Given the description of an element on the screen output the (x, y) to click on. 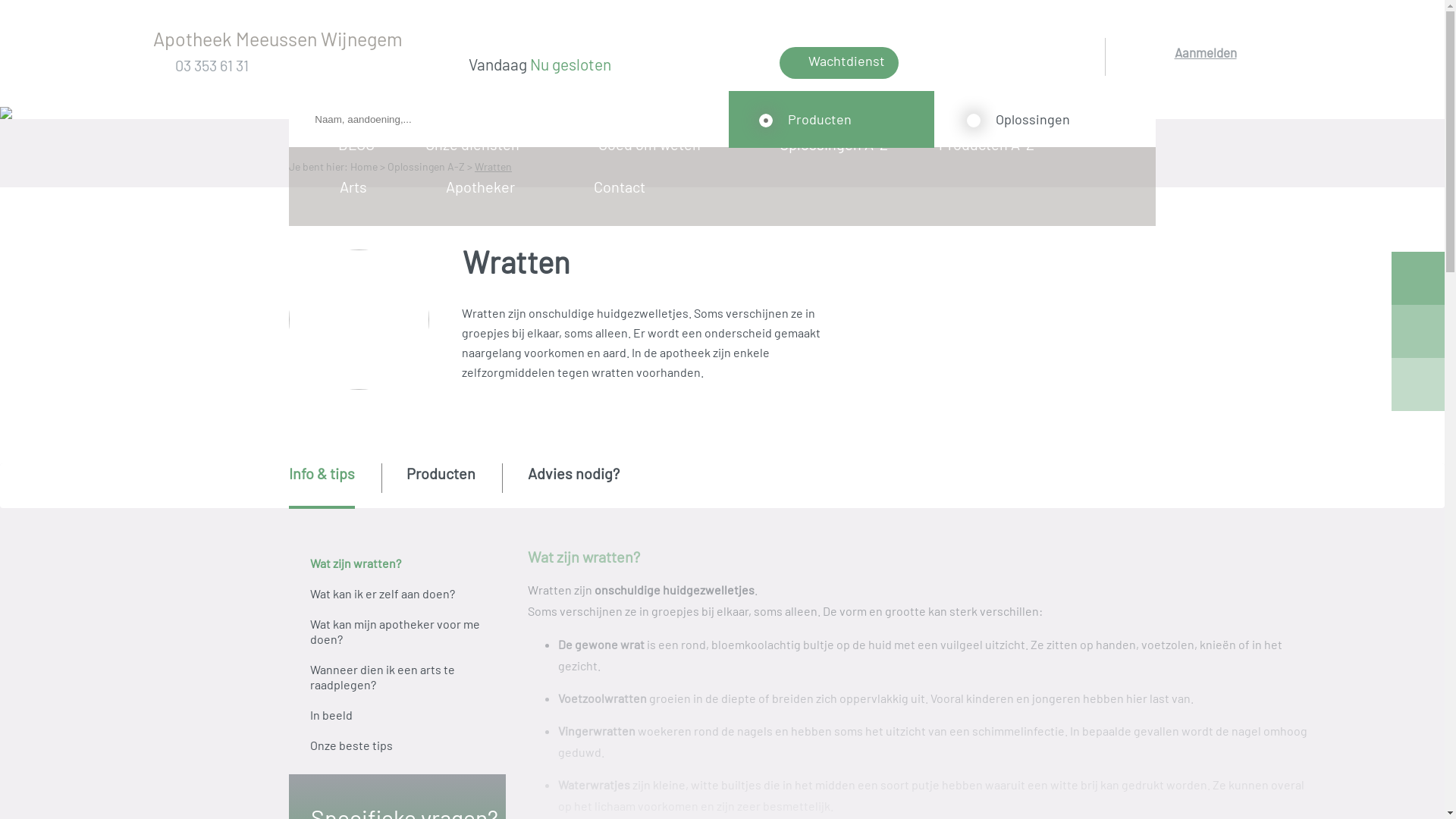
Vandaag
Nu 
gesloten Element type: text (621, 65)
Producten A-Z Element type: text (991, 143)
In beeld Element type: text (397, 714)
Onze diensten Element type: text (477, 143)
Goed om weten Element type: text (654, 143)
Arts Element type: text (357, 186)
Apotheker Element type: text (485, 186)
Aanmelden Element type: text (1205, 71)
Wachtdienst Element type: text (838, 62)
BLOG Element type: text (361, 143)
Wratten Element type: text (492, 166)
Oplossingen A-Z Element type: text (838, 143)
Wat zijn wratten? Element type: text (397, 563)
Wanneer dien ik een arts te raadplegen? Element type: text (397, 676)
Wat kan ik er zelf aan doen? Element type: text (397, 593)
Advies nodig? Element type: text (573, 484)
Onze beste tips Element type: text (397, 745)
Contact Element type: text (624, 186)
Wat kan mijn apotheker voor me doen? Element type: text (397, 631)
Oplossingen A-Z Element type: text (425, 166)
Producten Element type: text (440, 484)
Info & tips Element type: text (321, 485)
